Given the description of an element on the screen output the (x, y) to click on. 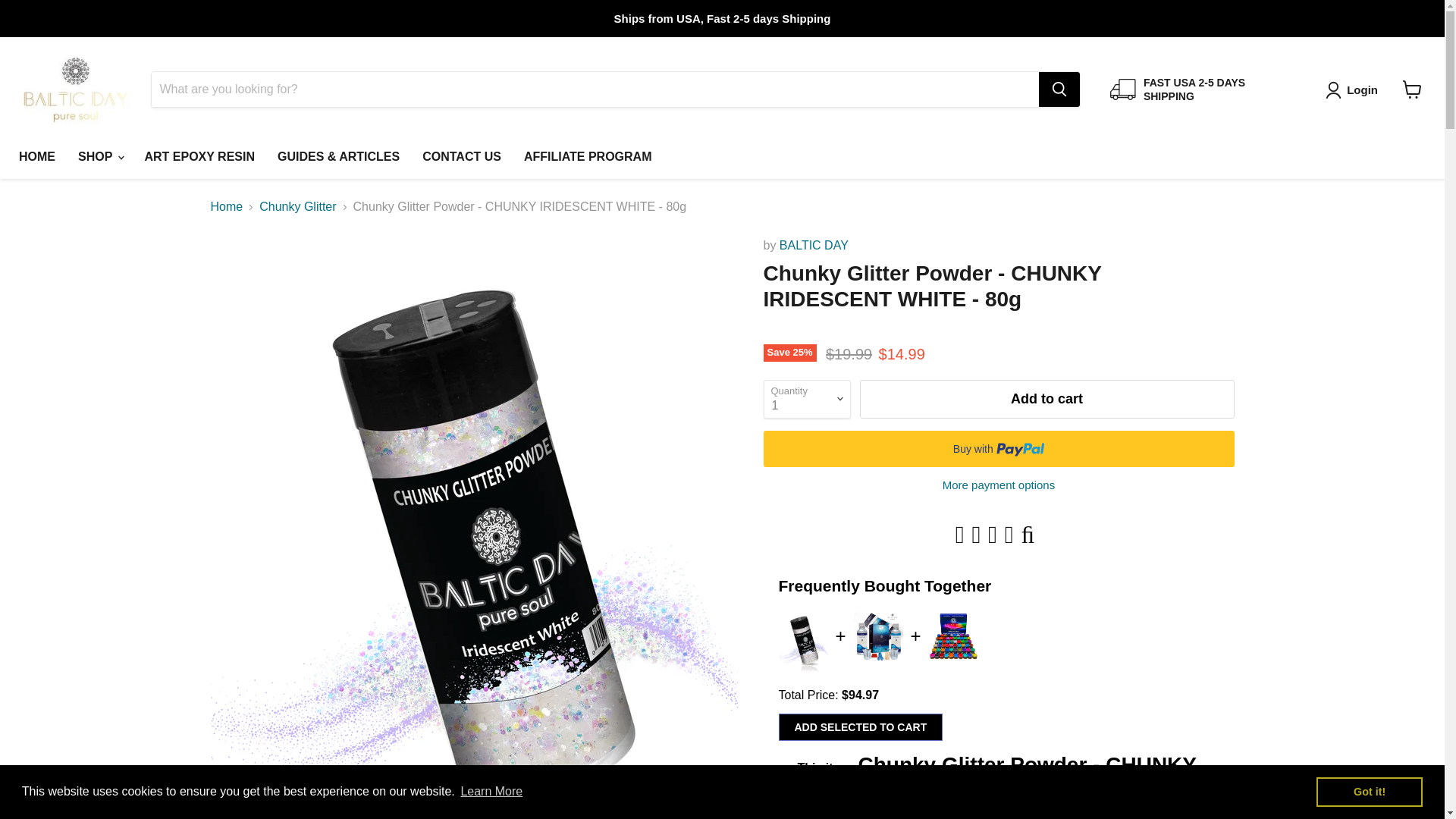
View cart (1411, 89)
FAST USA 2-5 DAYS SHIPPING (1202, 89)
CONTACT US (461, 156)
ART EPOXY RESIN (199, 156)
HOME (36, 156)
Learn More (491, 791)
BALTIC DAY (813, 245)
Got it! (1369, 791)
Login (1362, 89)
42218970546400 (782, 784)
